Given the description of an element on the screen output the (x, y) to click on. 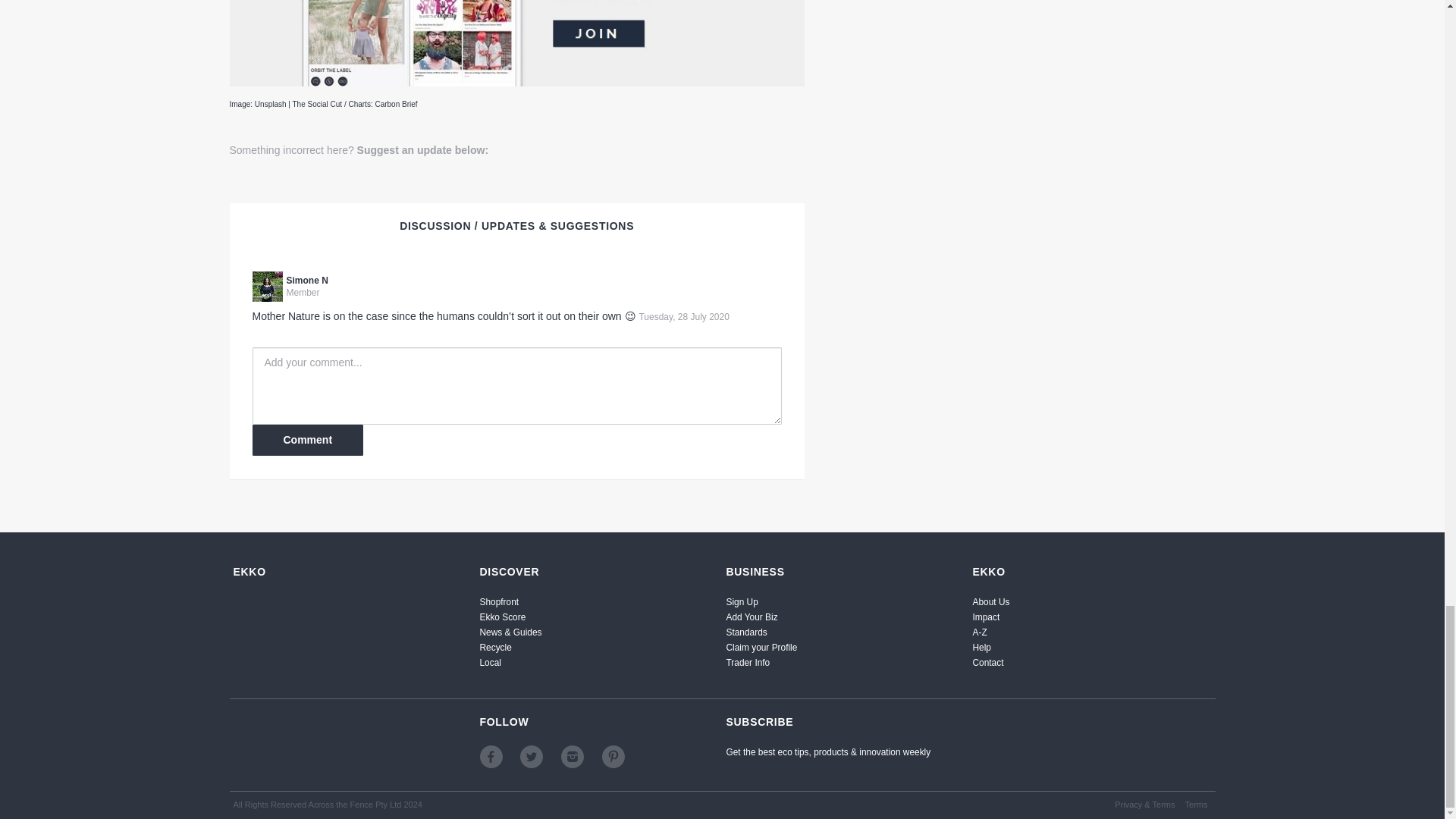
Comment (306, 440)
